Given the description of an element on the screen output the (x, y) to click on. 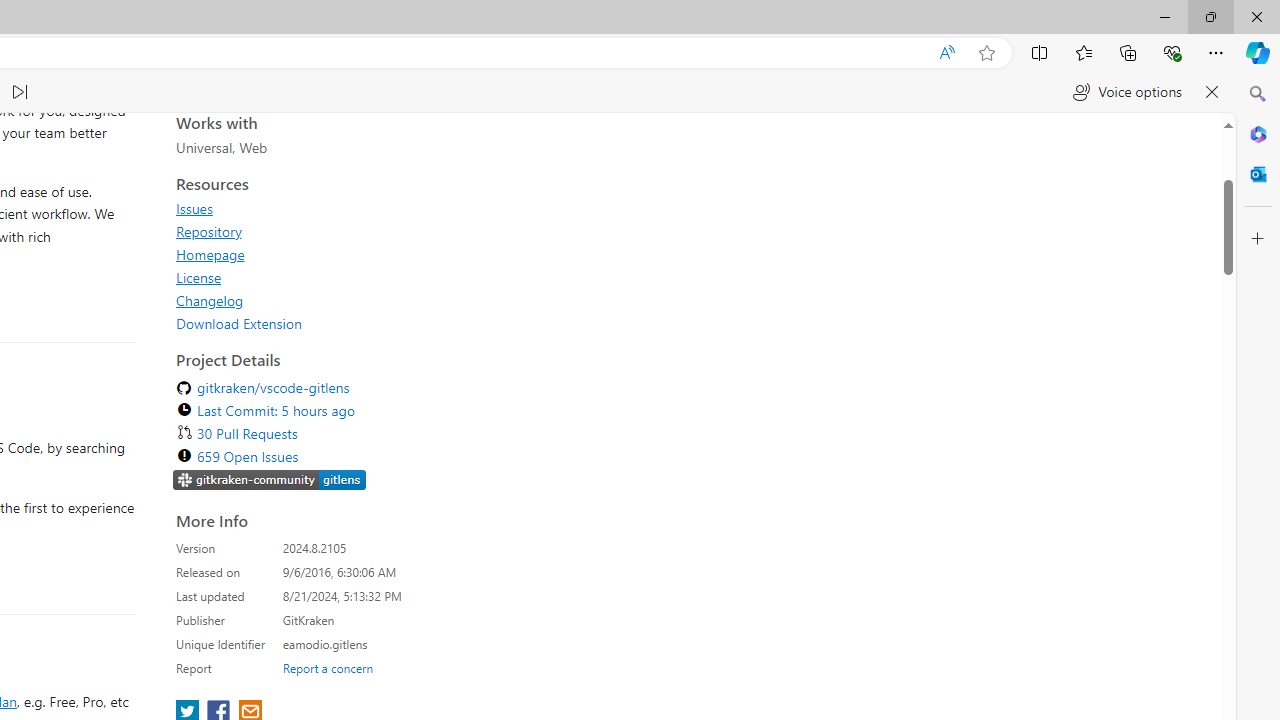
Repository (208, 559)
Repository (358, 559)
Voice options (1127, 92)
License (358, 605)
Changelog (210, 628)
Issues (194, 536)
